Given the description of an element on the screen output the (x, y) to click on. 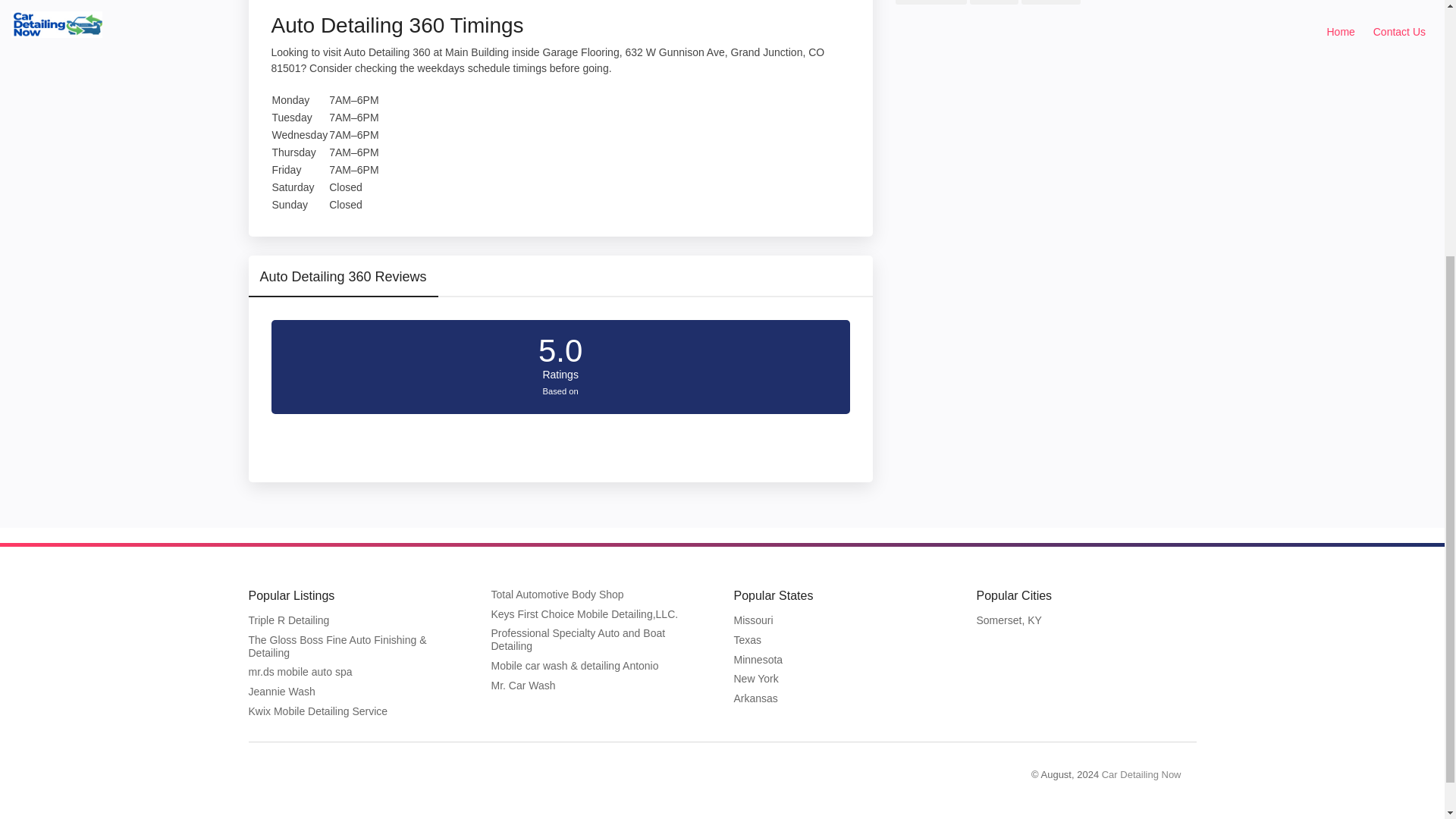
Auburn (993, 2)
Total Automotive Body Shop (562, 594)
mr.ds mobile auto spa (304, 672)
Jeannie Wash (286, 692)
Keys First Choice Mobile Detailing,LLC. (589, 614)
Chesterfield (930, 2)
Triple R Detailing (293, 621)
Kwix Mobile Detailing Service (322, 712)
Campbell (1051, 2)
Auto Detailing 360 Reviews (343, 281)
